Given the description of an element on the screen output the (x, y) to click on. 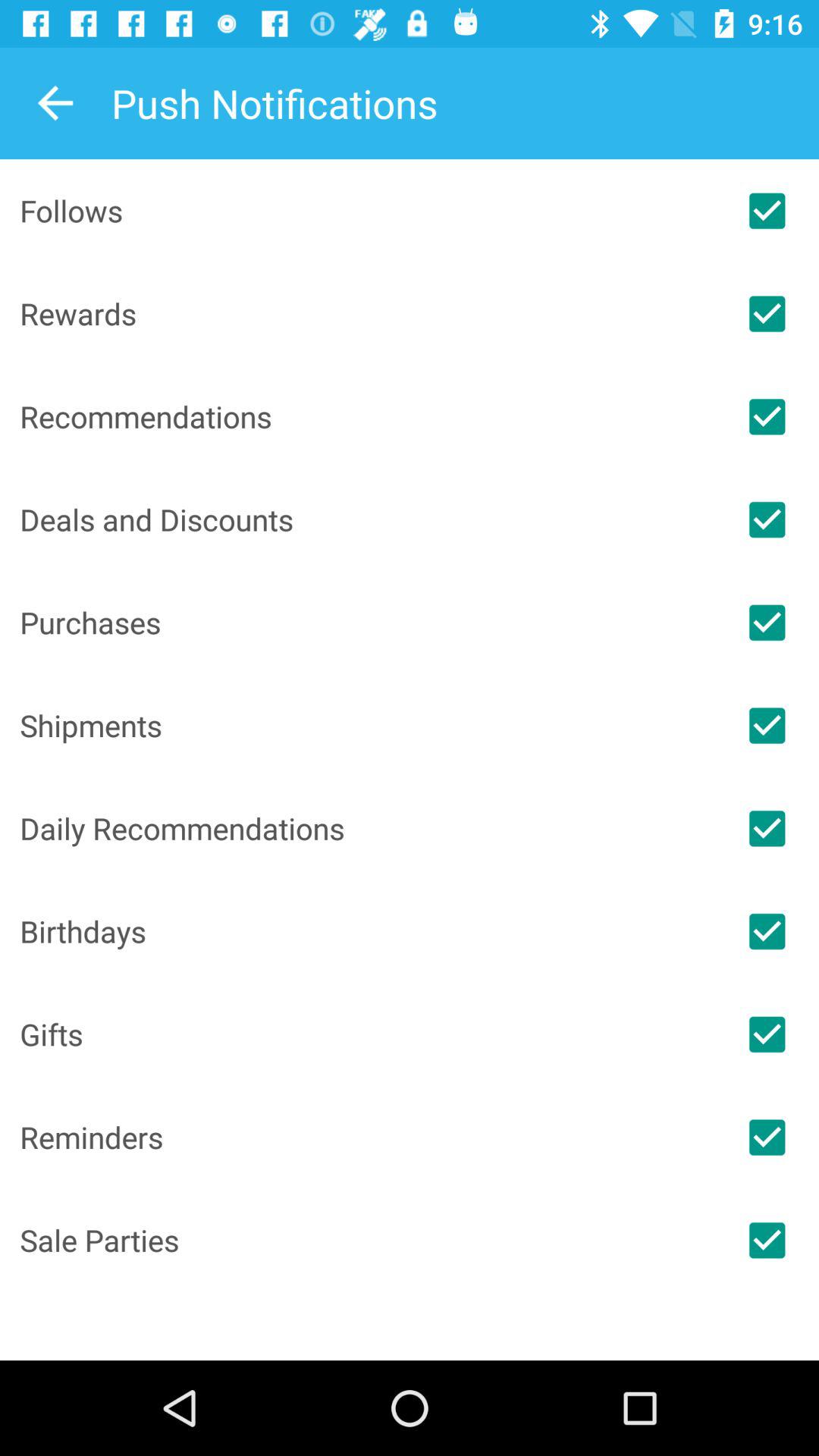
turn reminder push notifications on or off (767, 1137)
